Given the description of an element on the screen output the (x, y) to click on. 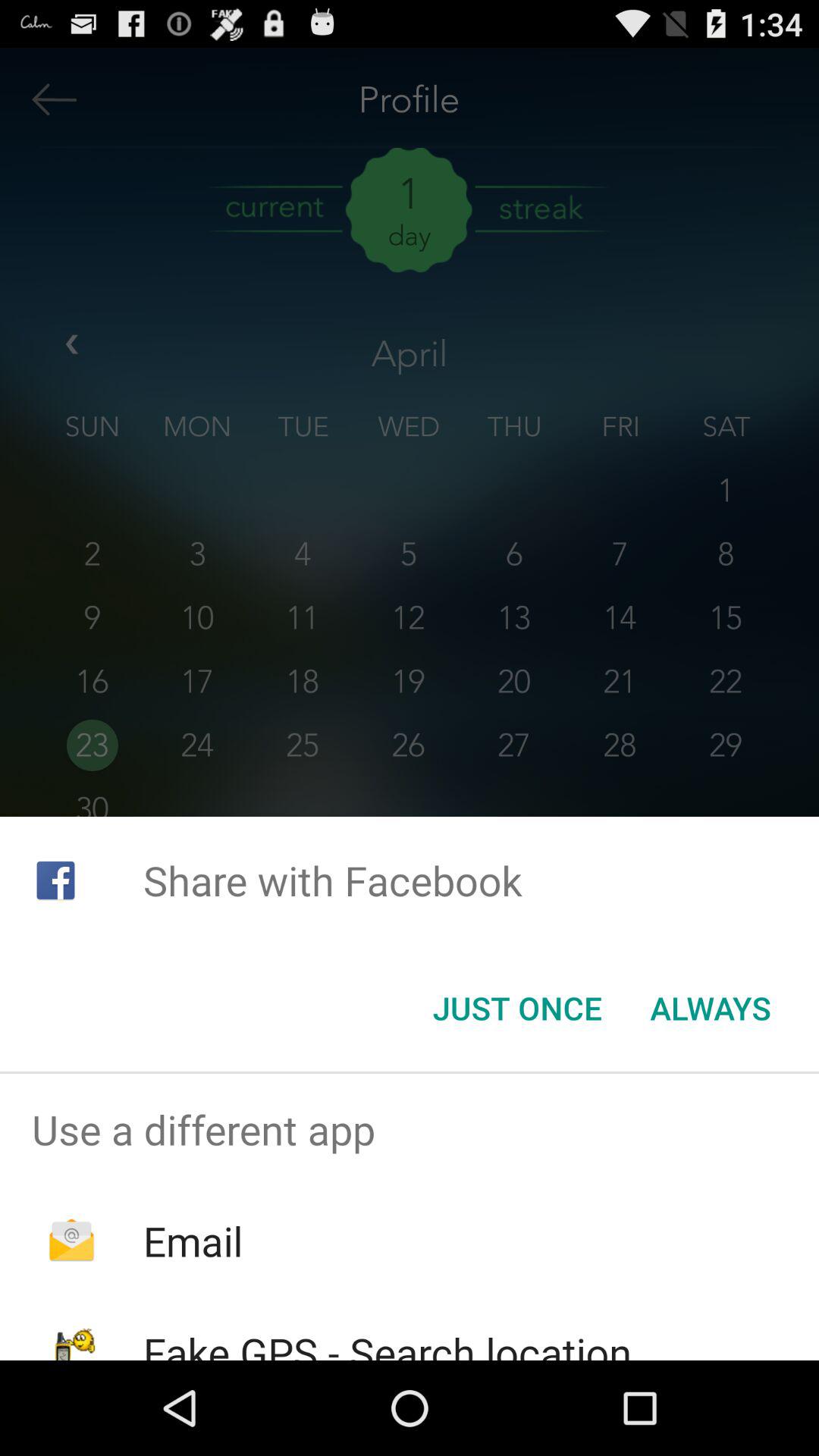
swipe to fake gps search icon (387, 1342)
